Given the description of an element on the screen output the (x, y) to click on. 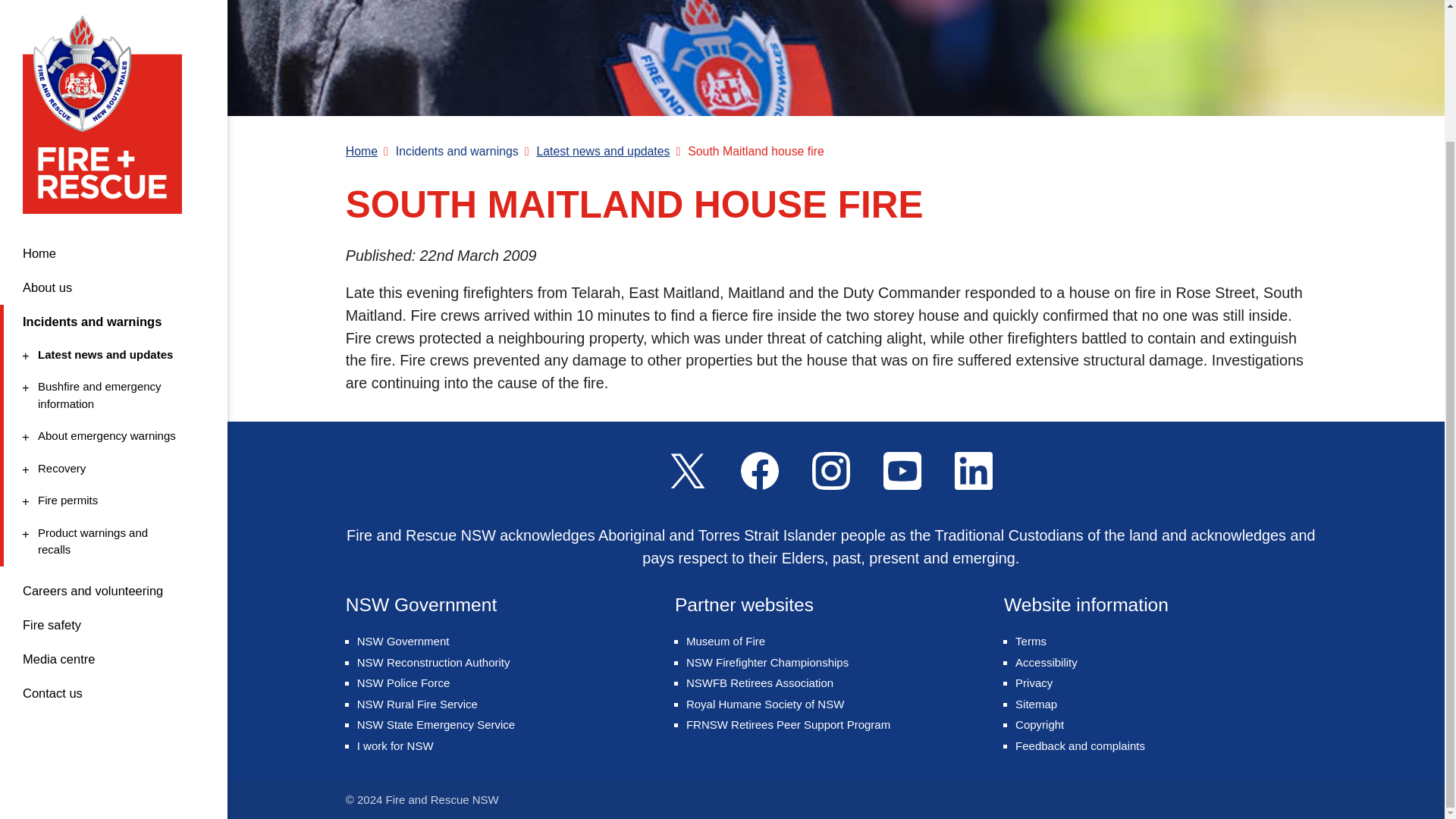
About emergency warnings (111, 275)
Latest news and updates (111, 194)
Fire permits (111, 380)
Recovery (111, 339)
Home (111, 307)
Fire and Rescue NSW (113, 92)
